Given the description of an element on the screen output the (x, y) to click on. 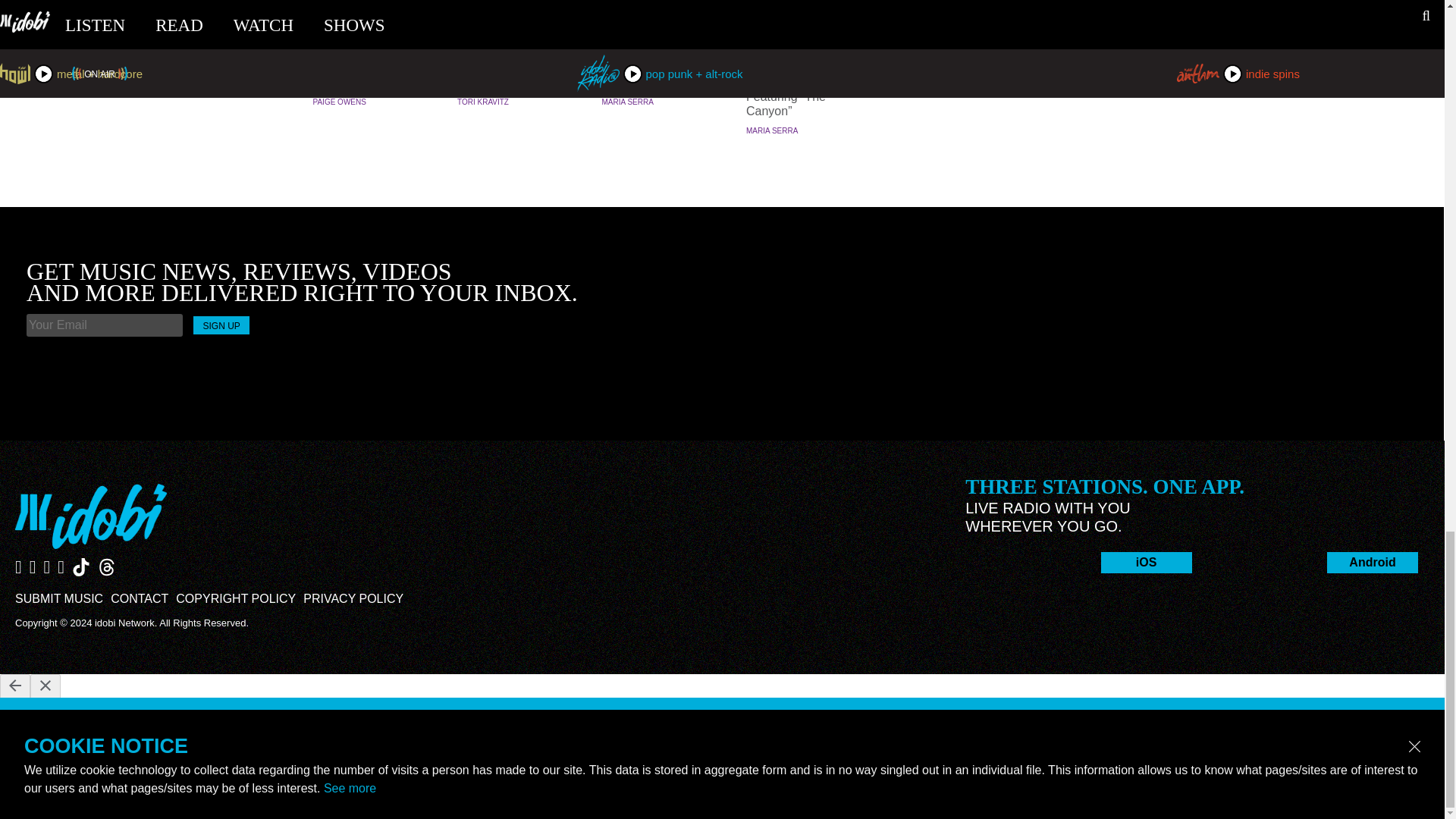
PAIGE OWENS (339, 101)
MARIA SERRA (627, 101)
Maria Serra (771, 130)
Maria Serra (627, 101)
NEWS (803, 36)
FEATURES (514, 36)
Tori Kravitz (482, 101)
MARIA SERRA (771, 130)
NEWS (369, 36)
Rain City Drive Announces Massive Headline Fall Tour (659, 67)
SIGN UP (220, 325)
NEWS (659, 36)
Paige Owens (339, 101)
TORI KRAVITZ (482, 101)
